Given the description of an element on the screen output the (x, y) to click on. 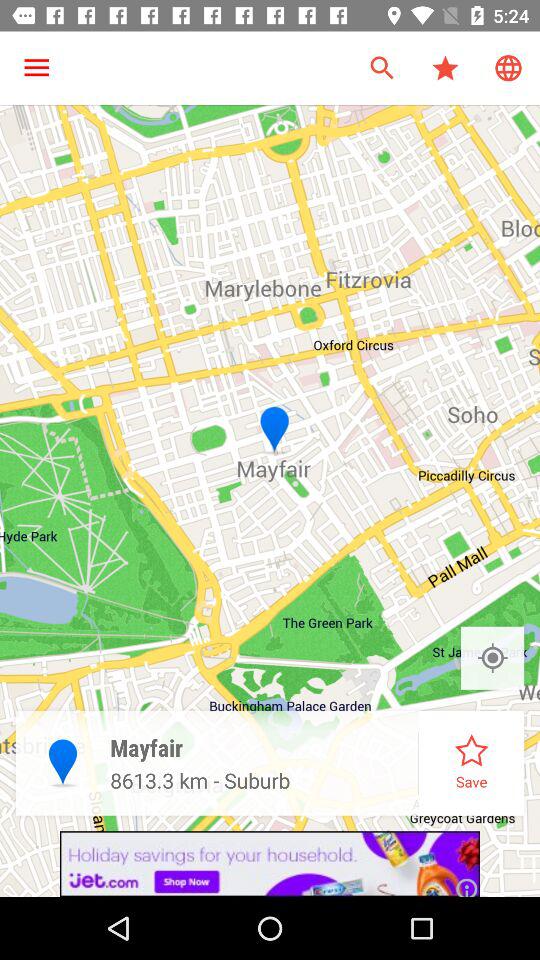
localize (492, 657)
